Given the description of an element on the screen output the (x, y) to click on. 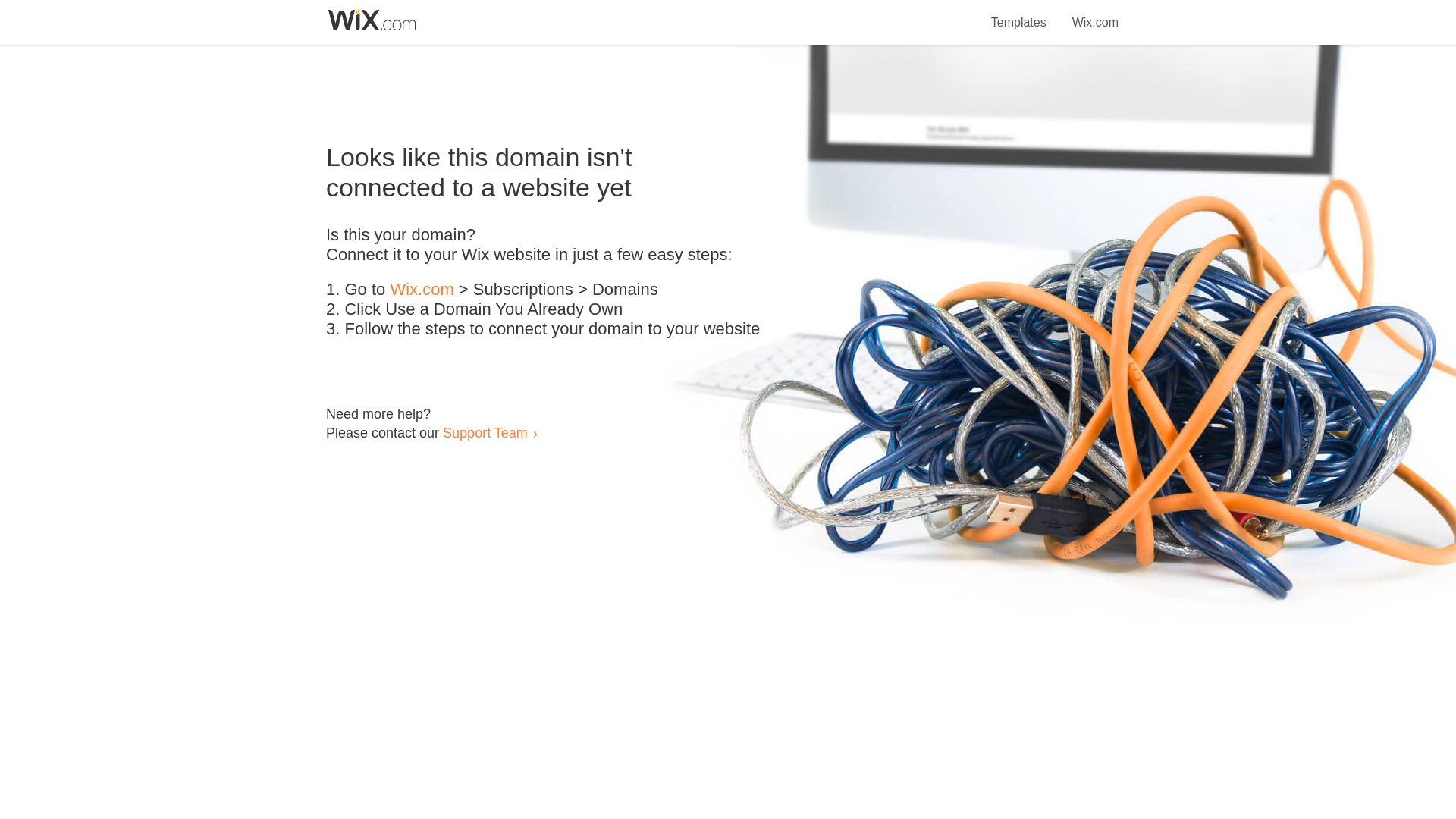
Support Team (484, 432)
Wix.com (421, 289)
Wix.com (1095, 14)
Templates (1018, 14)
